Given the description of an element on the screen output the (x, y) to click on. 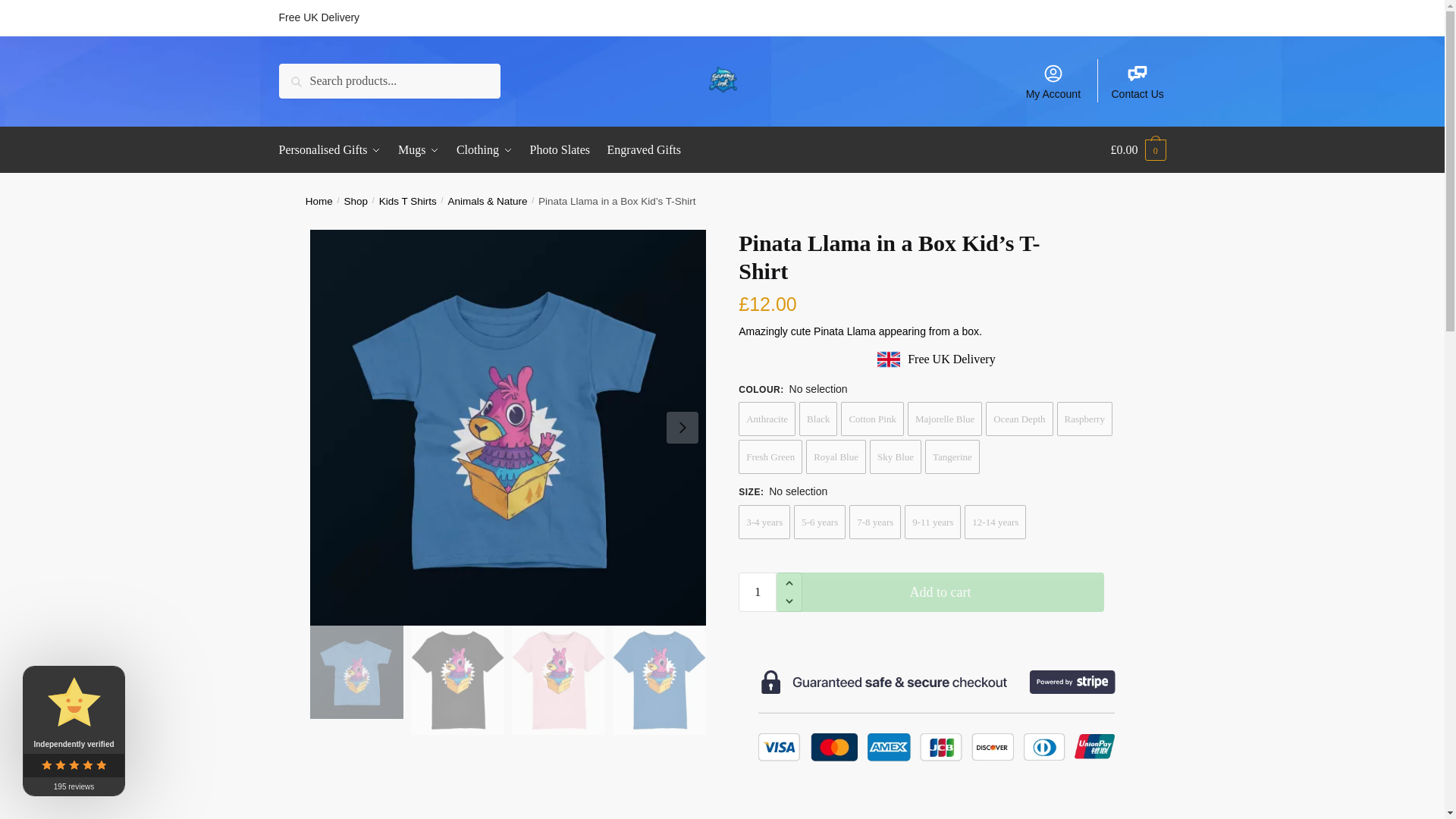
Personalised Gifts (333, 149)
Mugs (418, 149)
1 (757, 590)
View your shopping cart (1137, 149)
Search (300, 74)
Contact Us (1137, 80)
My Account (1052, 80)
